Given the description of an element on the screen output the (x, y) to click on. 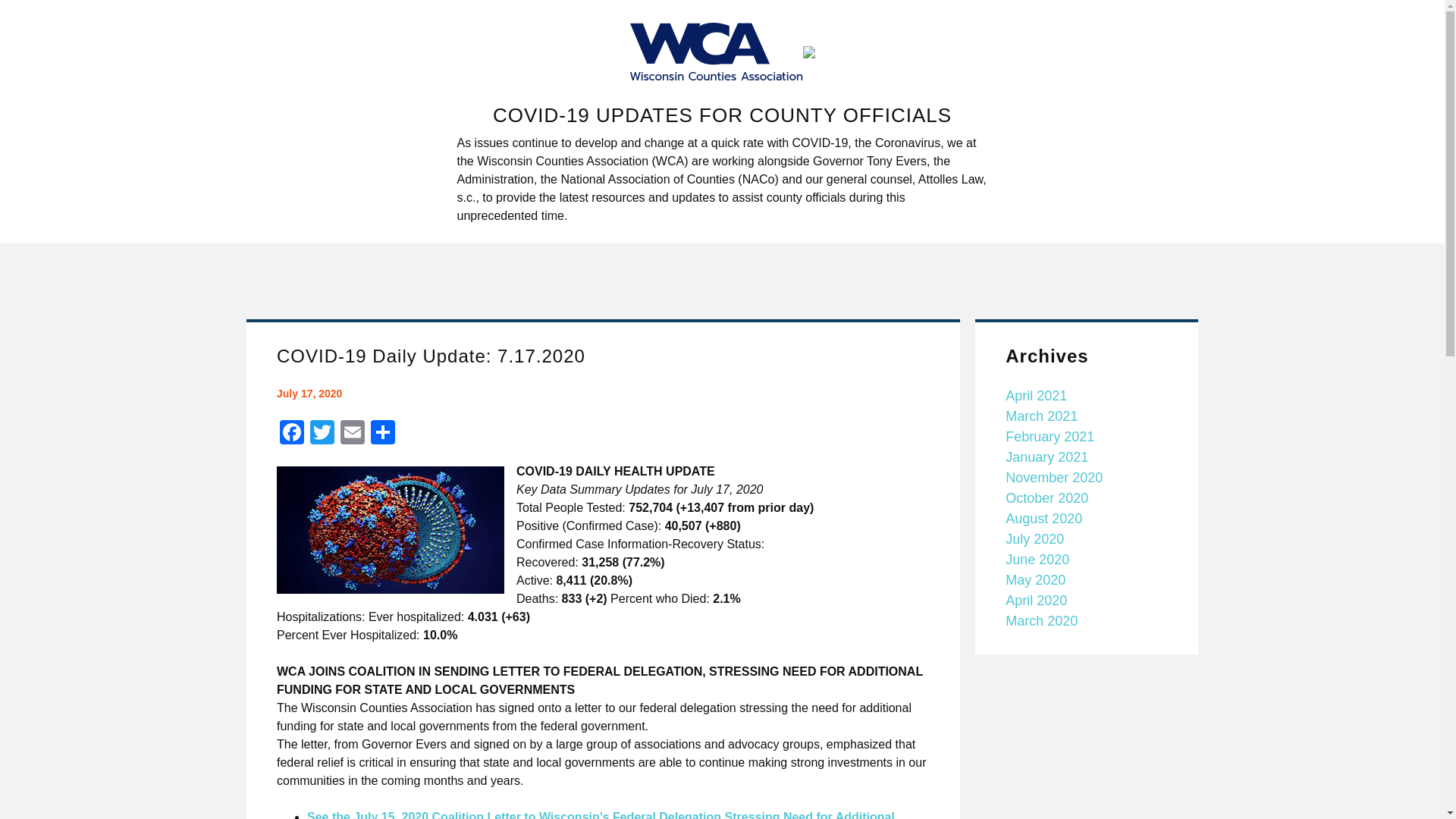
Email (352, 433)
Twitter (322, 433)
April 2021 (1036, 395)
January 2021 (1046, 456)
July 2020 (1035, 538)
Email (352, 433)
Twitter (322, 433)
Facebook (291, 433)
April 2020 (1036, 600)
June 2020 (1037, 559)
October 2020 (1046, 497)
November 2020 (1054, 477)
March 2021 (1041, 415)
March 2020 (1041, 620)
Facebook (291, 433)
